Given the description of an element on the screen output the (x, y) to click on. 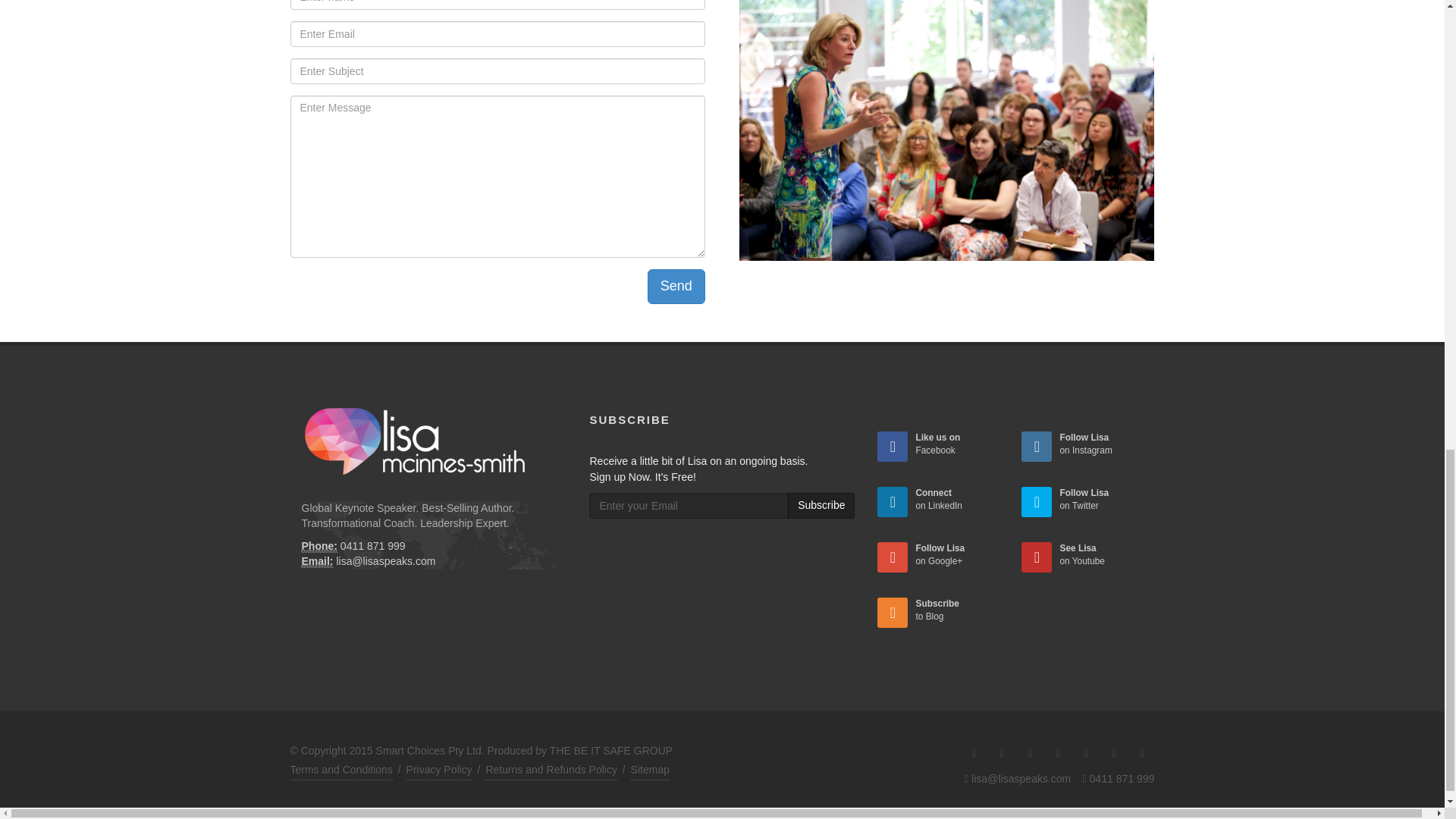
Phone Number (319, 545)
Email Address (317, 561)
